Given the description of an element on the screen output the (x, y) to click on. 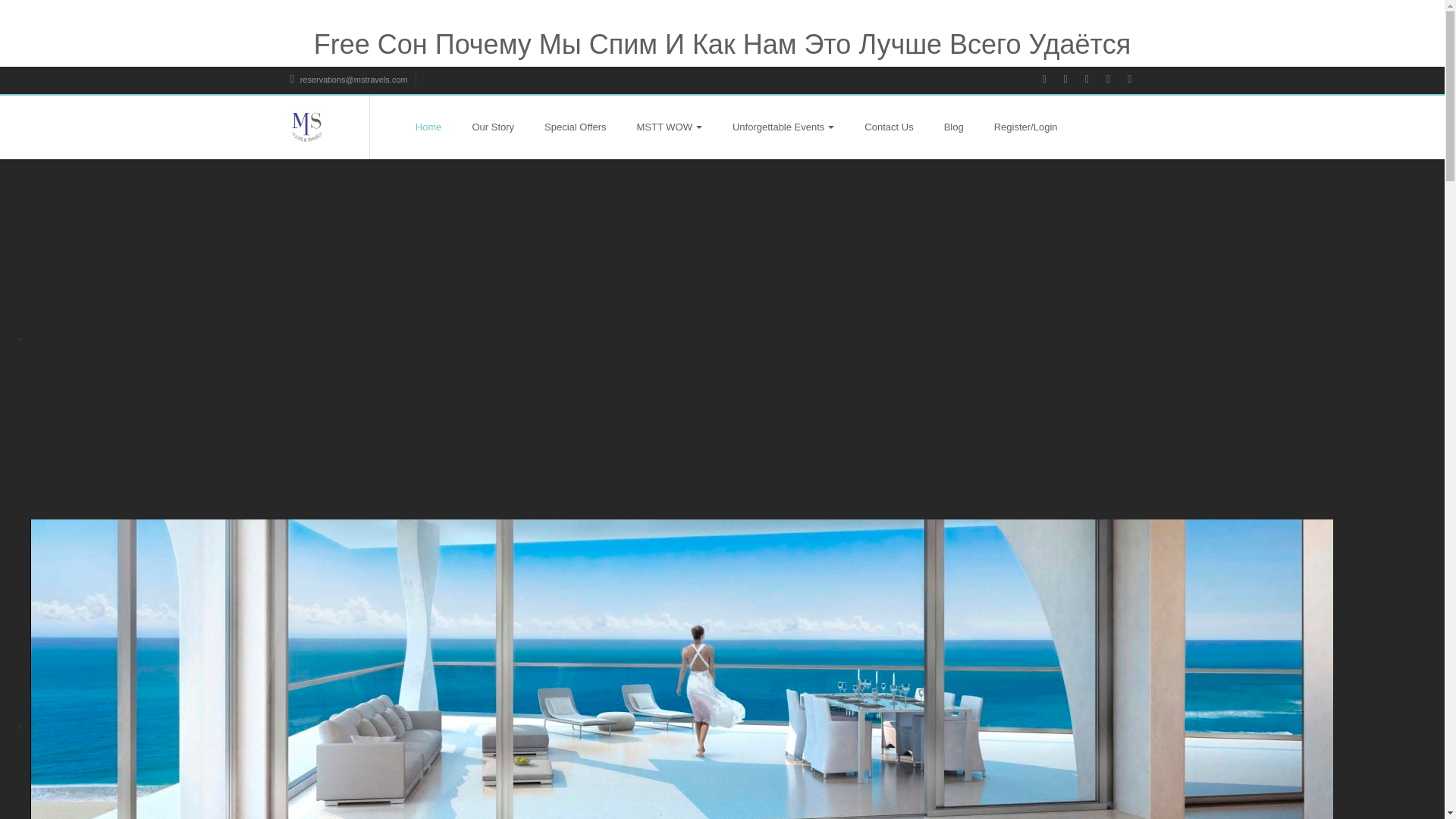
LinkedIn (1115, 79)
MSTT WOW (669, 126)
Home (428, 126)
Special Offers (575, 126)
Twitter (1073, 79)
Our Story (493, 126)
Contact Us (888, 126)
Google Plus (1093, 79)
pinterest (1136, 79)
Unforgettable Events (782, 126)
Facebook (1051, 79)
